Given the description of an element on the screen output the (x, y) to click on. 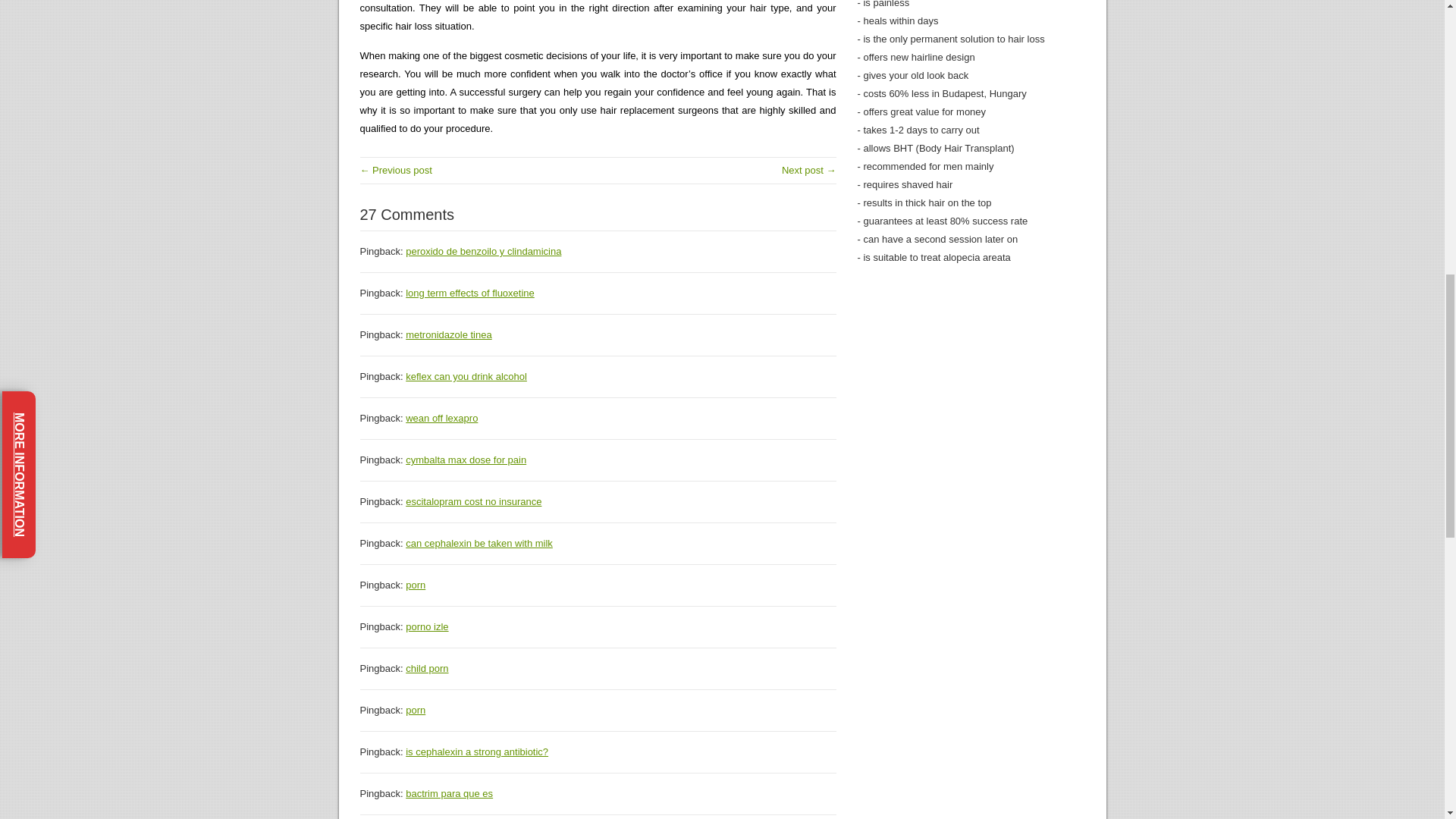
peroxido de benzoilo y clindamicina (483, 251)
is cephalexin a strong antibiotic? (477, 751)
cymbalta max dose for pain (465, 460)
porn (415, 709)
porn (415, 584)
child porn (427, 668)
Hair cloning 2018 (808, 170)
porno izle (427, 626)
Hair transplant clinic (394, 170)
long term effects of fluoxetine (470, 292)
